Given the description of an element on the screen output the (x, y) to click on. 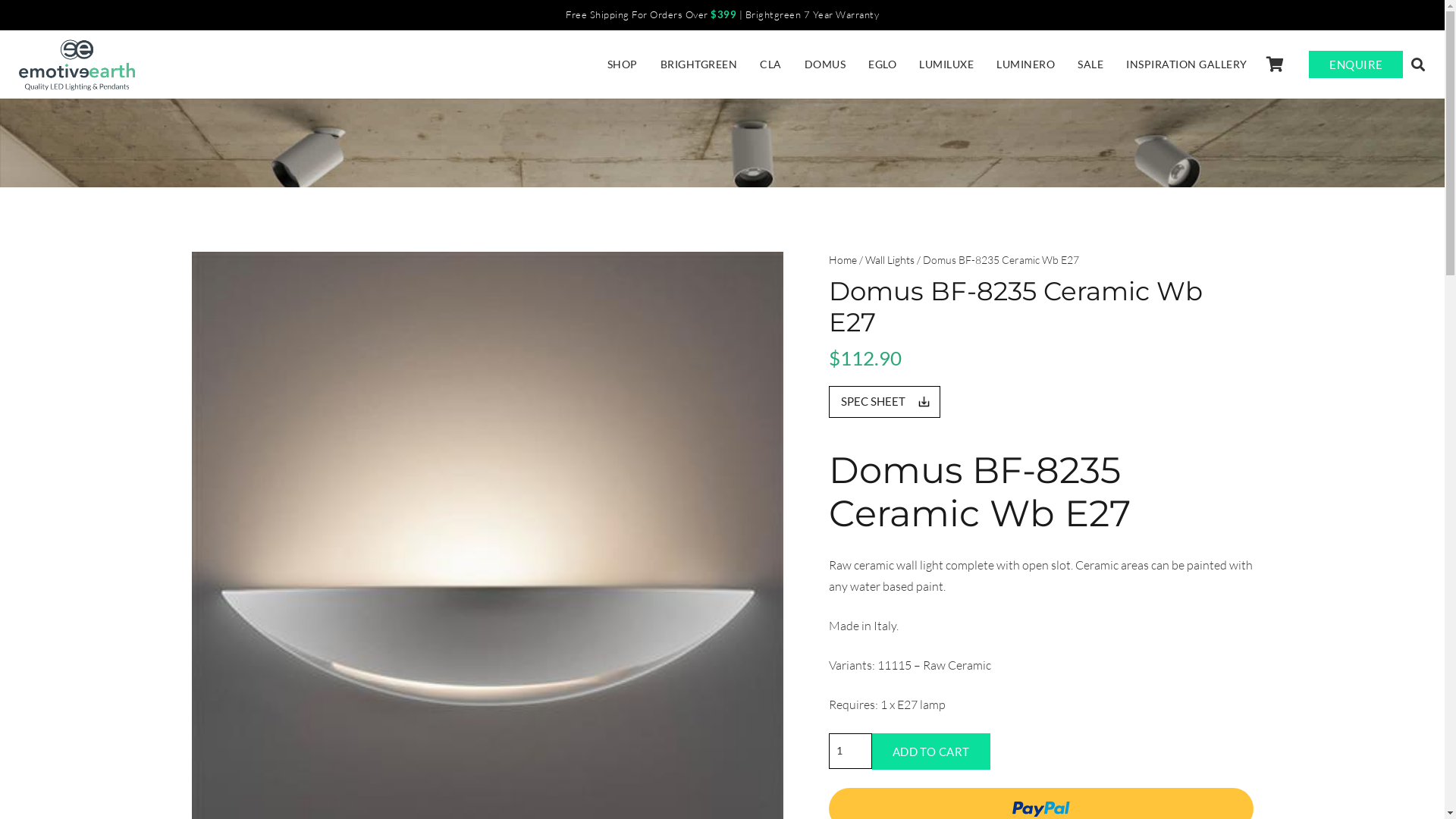
LUMINERO Element type: text (1025, 64)
Home Element type: text (842, 259)
BF-8235 Data Sheet Element type: text (883, 401)
0 Element type: text (1275, 64)
SHOP Element type: text (622, 64)
INSPIRATION GALLERY Element type: text (1186, 64)
CLA Element type: text (770, 64)
Wall Lights Element type: text (888, 259)
ENQUIRE Element type: text (1355, 64)
SALE Element type: text (1090, 64)
DOMUS Element type: text (825, 64)
EGLO Element type: text (881, 64)
BRIGHTGREEN Element type: text (699, 64)
LUMILUXE Element type: text (946, 64)
ADD TO CART Element type: text (931, 751)
